Given the description of an element on the screen output the (x, y) to click on. 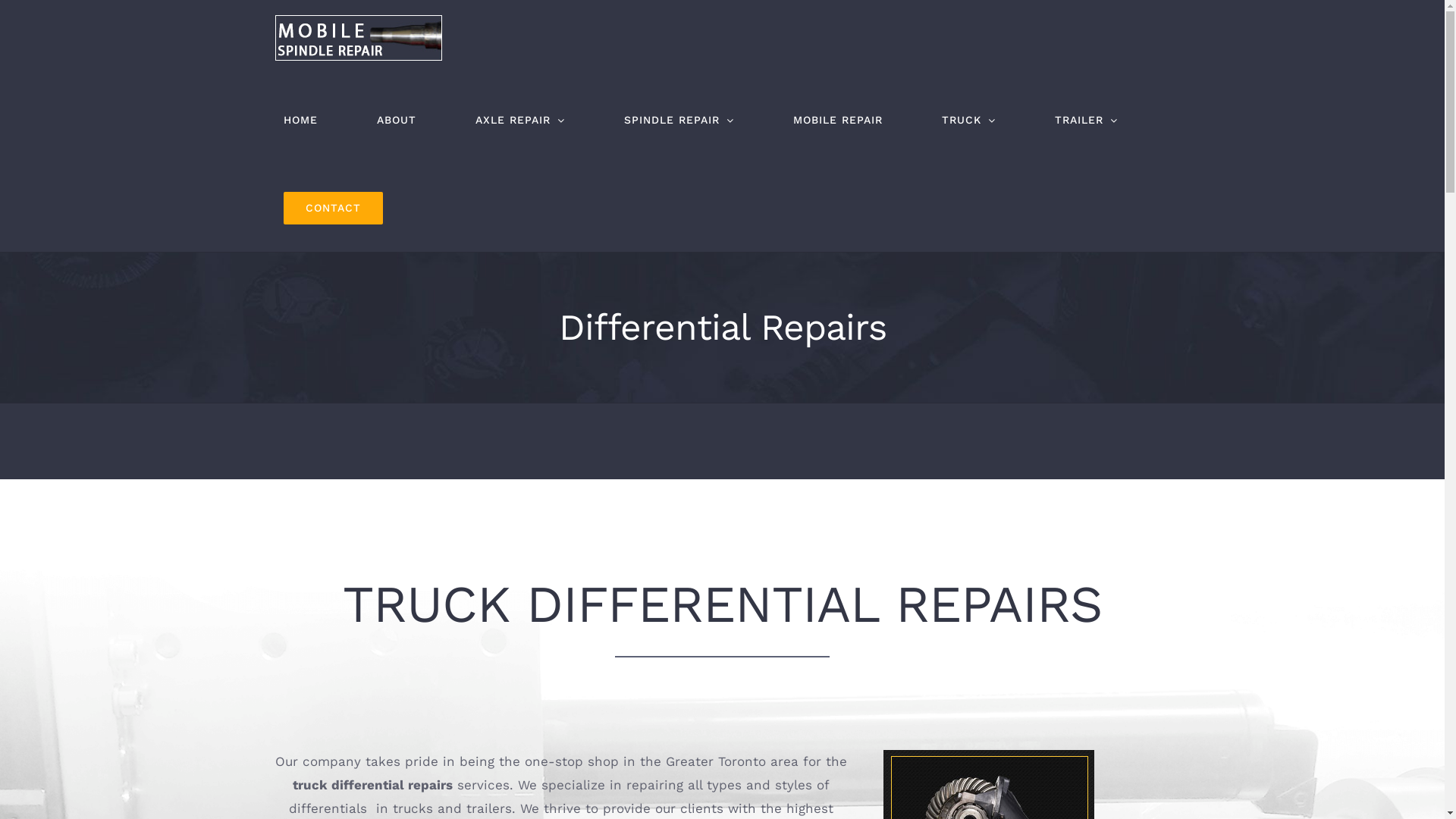
AXLE REPAIR Element type: text (520, 119)
ABOUT Element type: text (396, 119)
MOBILE REPAIR Element type: text (837, 119)
TRUCK Element type: text (967, 119)
TRAILER Element type: text (1086, 119)
SPINDLE REPAIR Element type: text (678, 119)
CONTACT Element type: text (332, 207)
HOME Element type: text (299, 119)
